Given the description of an element on the screen output the (x, y) to click on. 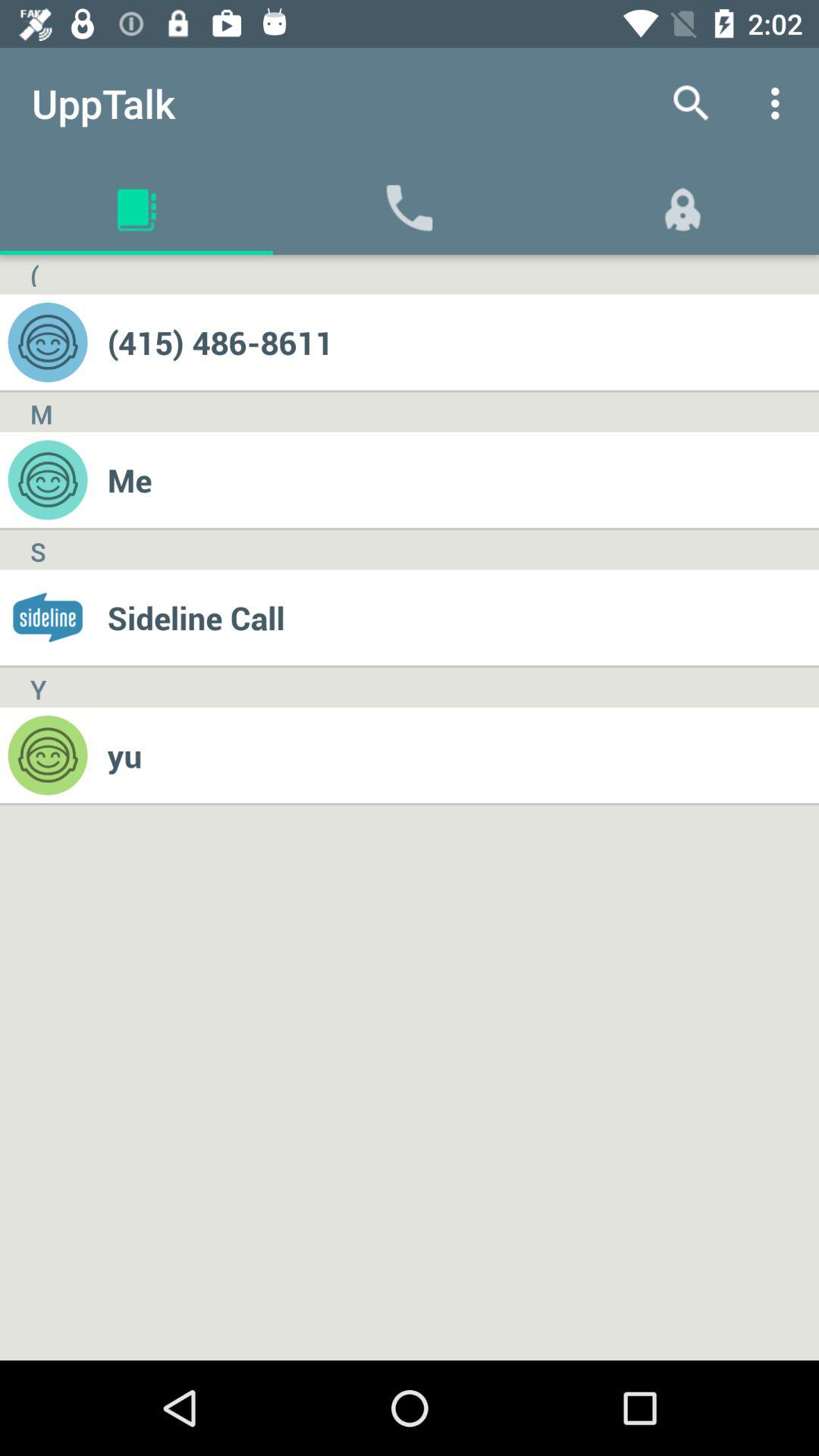
jump until the ( (34, 274)
